Given the description of an element on the screen output the (x, y) to click on. 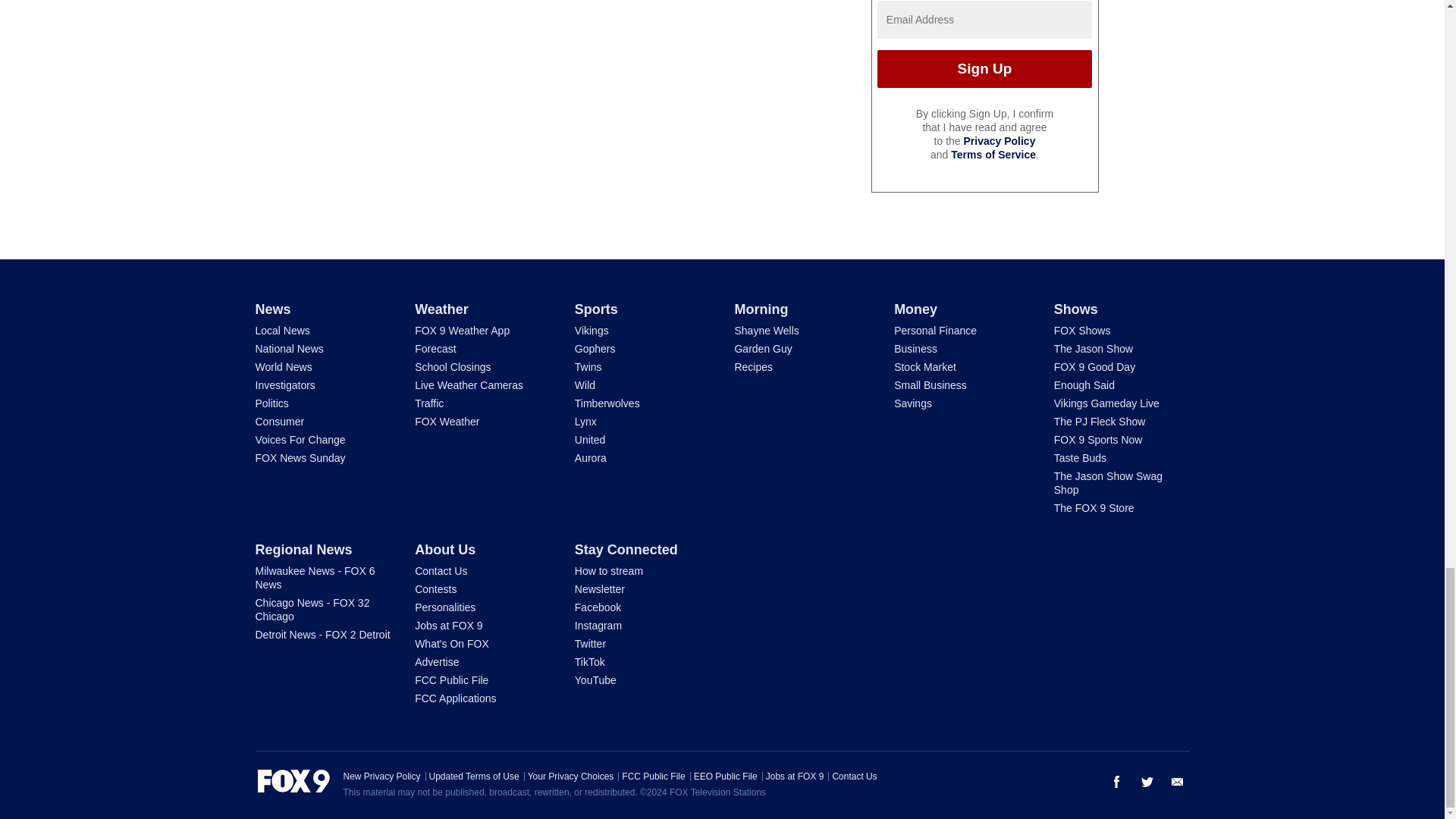
Sign Up (984, 68)
